Given the description of an element on the screen output the (x, y) to click on. 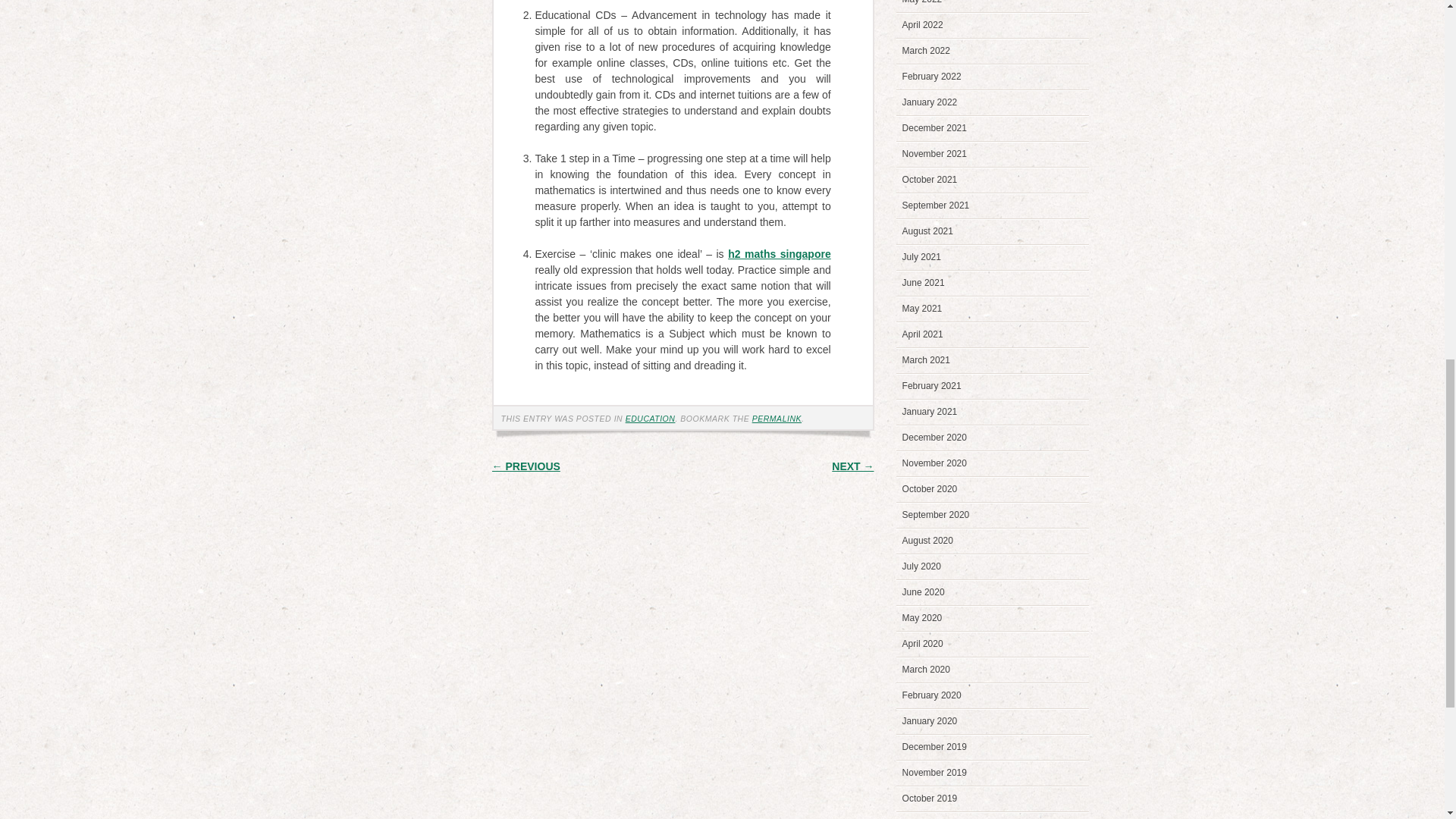
PERMALINK (777, 418)
May 2022 (922, 2)
EDUCATION (650, 418)
Permalink to The way to be successful in mathematics (777, 418)
April 2022 (922, 24)
h2 maths singapore (779, 254)
